Given the description of an element on the screen output the (x, y) to click on. 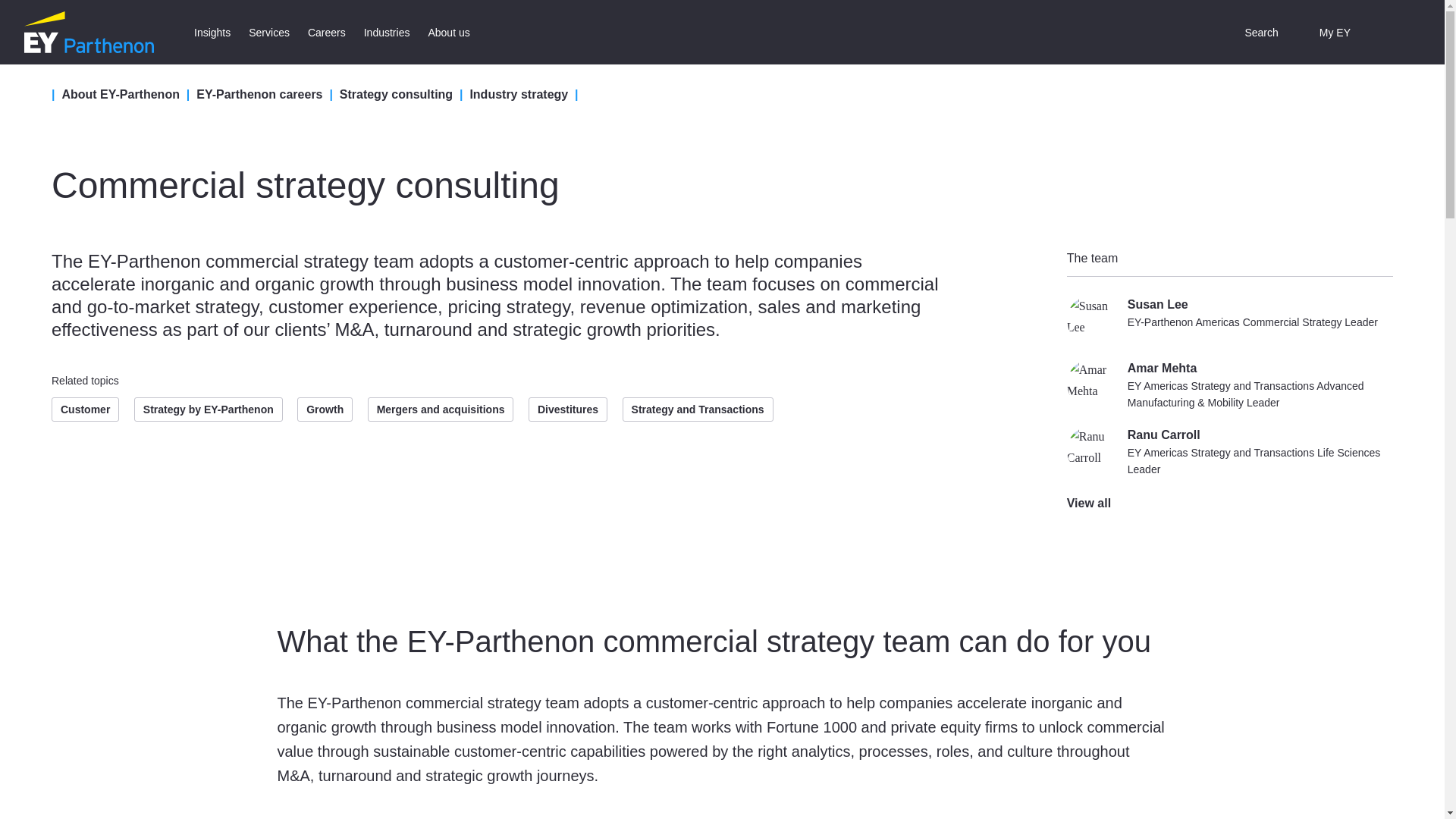
Open country language switcher (1390, 32)
My EY (1324, 32)
Insights (212, 32)
EY Parthenon Home Page (89, 32)
Open search (1250, 32)
Services (269, 32)
